Given the description of an element on the screen output the (x, y) to click on. 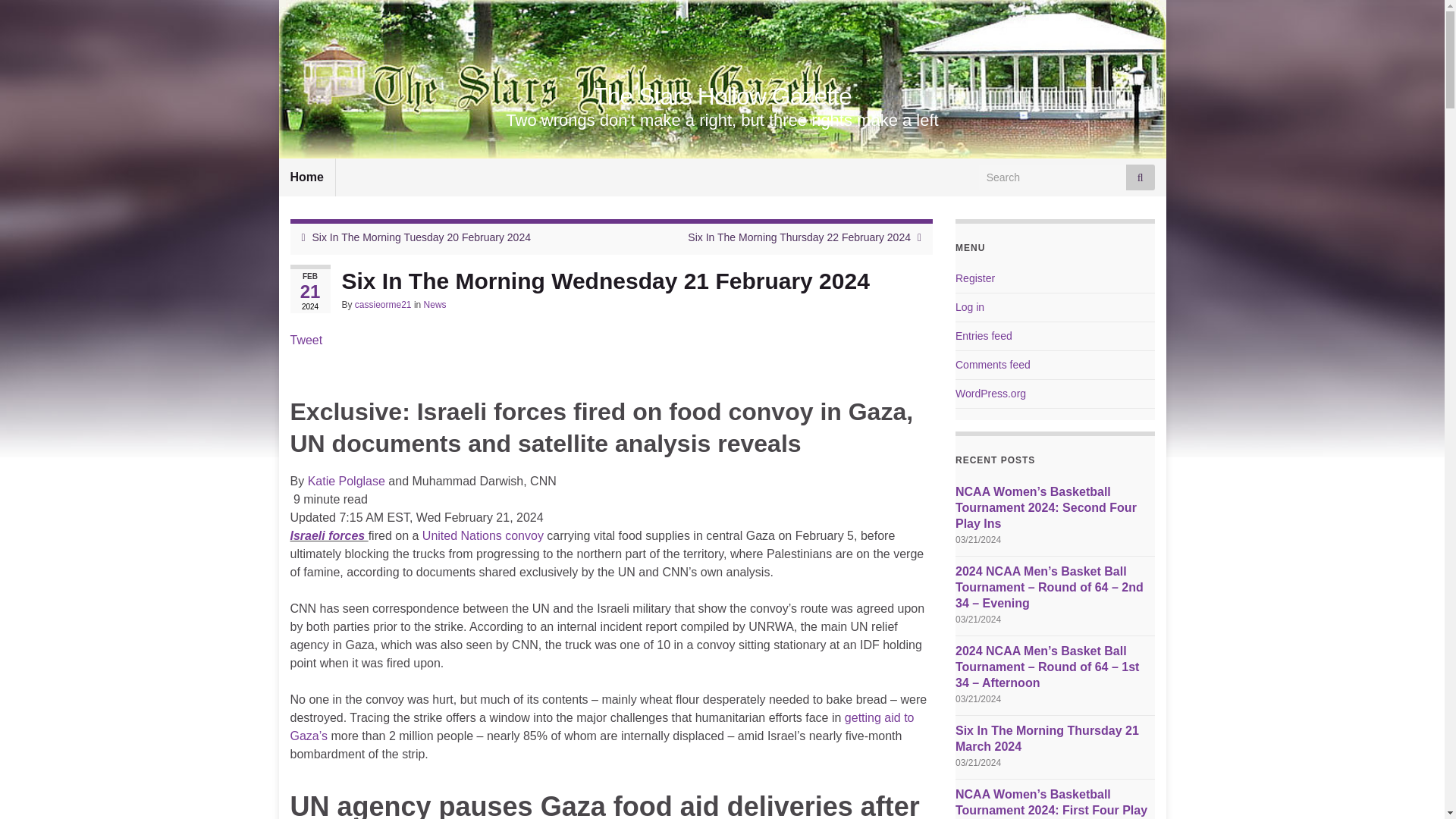
Tweet (305, 339)
Log in (969, 306)
Home (306, 177)
United Nations convoy (482, 535)
Comments feed (992, 364)
Katie Polglase (346, 481)
Register (974, 277)
Six In The Morning Thursday 22 February 2024 (799, 236)
cassieorme21 (383, 304)
The Stars Hollow Gazette (721, 95)
Entries feed (983, 336)
News (434, 304)
Six In The Morning Tuesday 20 February 2024 (422, 236)
Go back to the front page (721, 95)
Israeli forces  (328, 535)
